Given the description of an element on the screen output the (x, y) to click on. 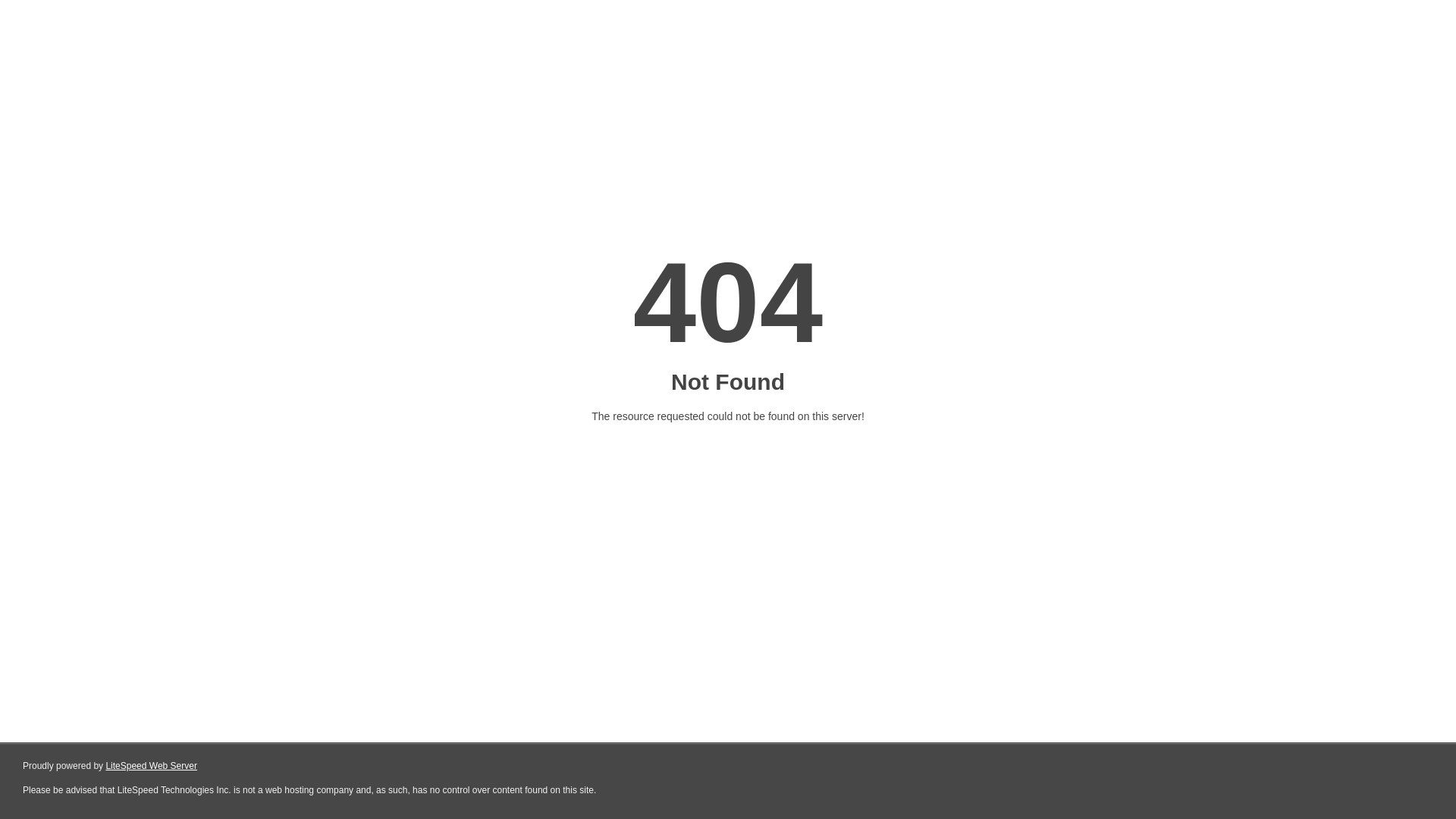
LiteSpeed Web Server Element type: text (151, 765)
